Given the description of an element on the screen output the (x, y) to click on. 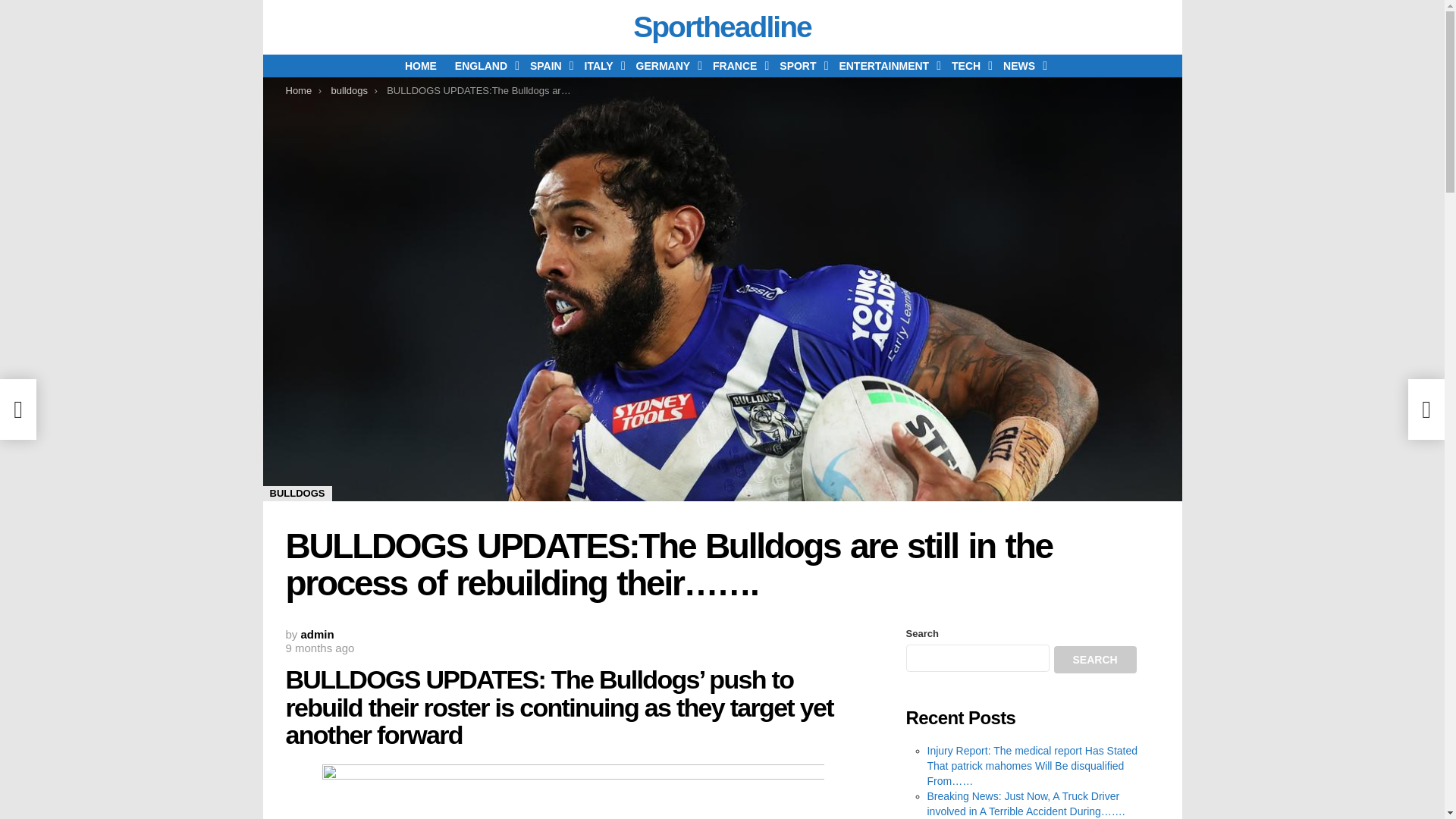
HOME (420, 65)
Sportheadline (721, 26)
GERMANY (665, 65)
November 17, 2023, 10:40 am (319, 648)
ENGLAND (482, 65)
ITALY (601, 65)
Posts by admin (317, 634)
SPAIN (547, 65)
